Given the description of an element on the screen output the (x, y) to click on. 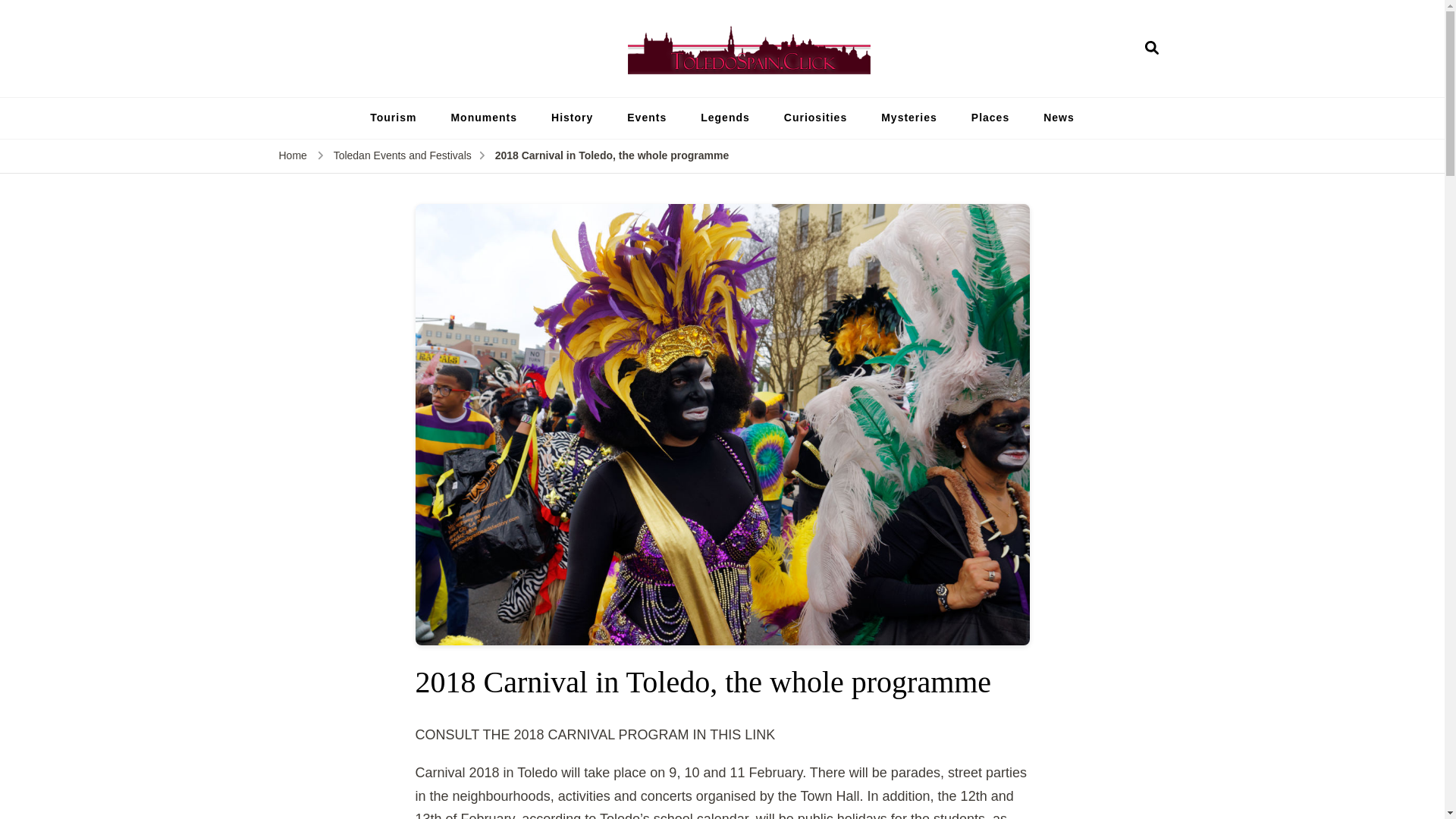
History (571, 117)
News (1058, 117)
Places (990, 117)
Mysteries (909, 117)
Monuments (483, 117)
Curiosities (814, 117)
Legends (725, 117)
Events (646, 117)
Home (293, 156)
Tourism (392, 117)
Toledan Events and Festivals (402, 156)
2018 Carnival in Toledo, the whole programme (612, 156)
Toledo Spain (930, 84)
cropped-logo-320-1.png (748, 48)
